Given the description of an element on the screen output the (x, y) to click on. 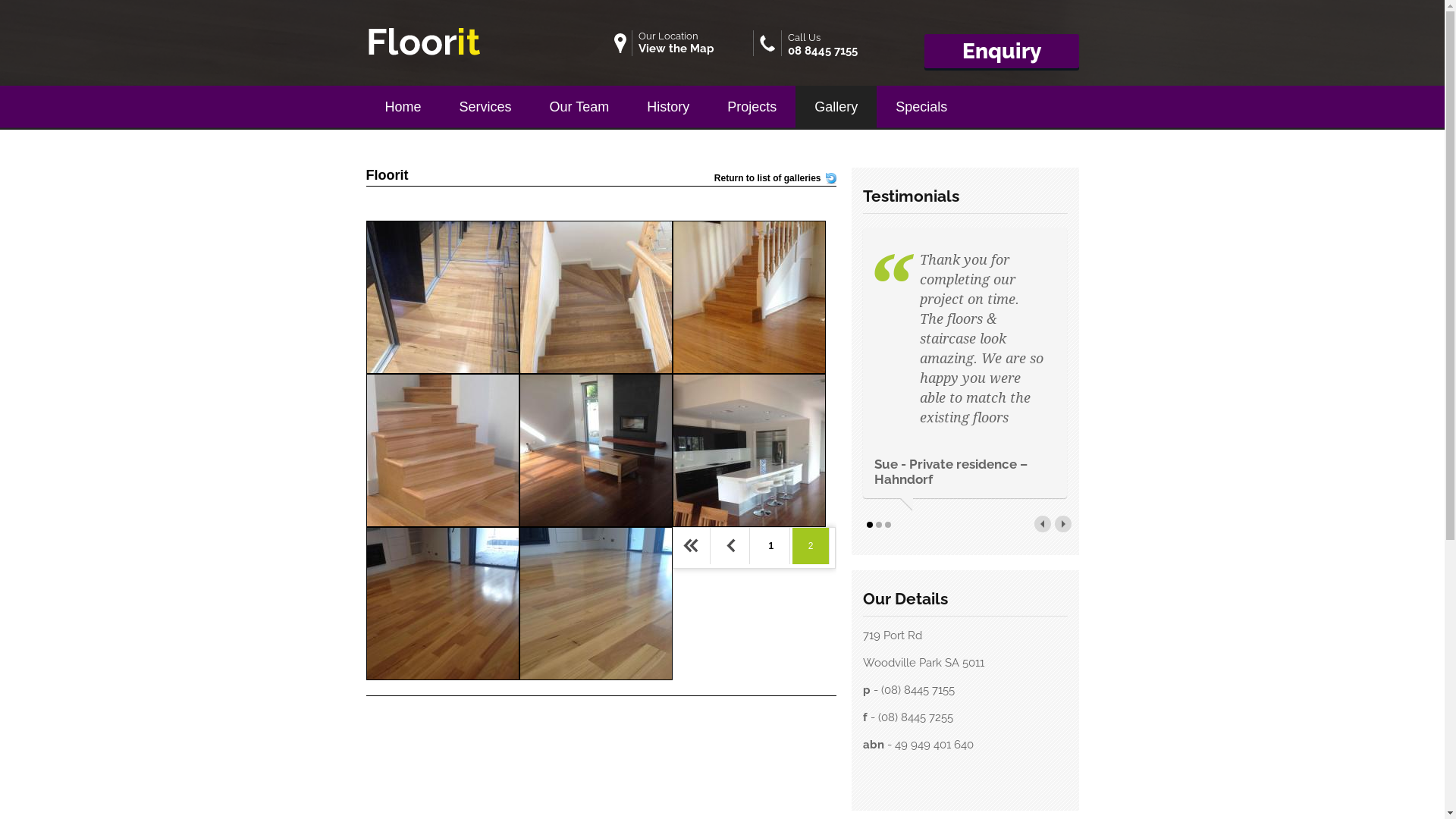
History Element type: text (667, 103)
Services Element type: text (485, 103)
Return to list of galleries Element type: text (767, 177)
1 Element type: text (771, 545)
Gallery Element type: text (835, 103)
Projects Element type: text (751, 103)
Prev Element type: text (730, 545)
Enquiry Element type: text (1000, 51)
View the Map Element type: text (676, 48)
Our Team Element type: text (579, 103)
Start Element type: text (691, 545)
Home Element type: text (402, 103)
Specials Element type: text (921, 103)
